Given the description of an element on the screen output the (x, y) to click on. 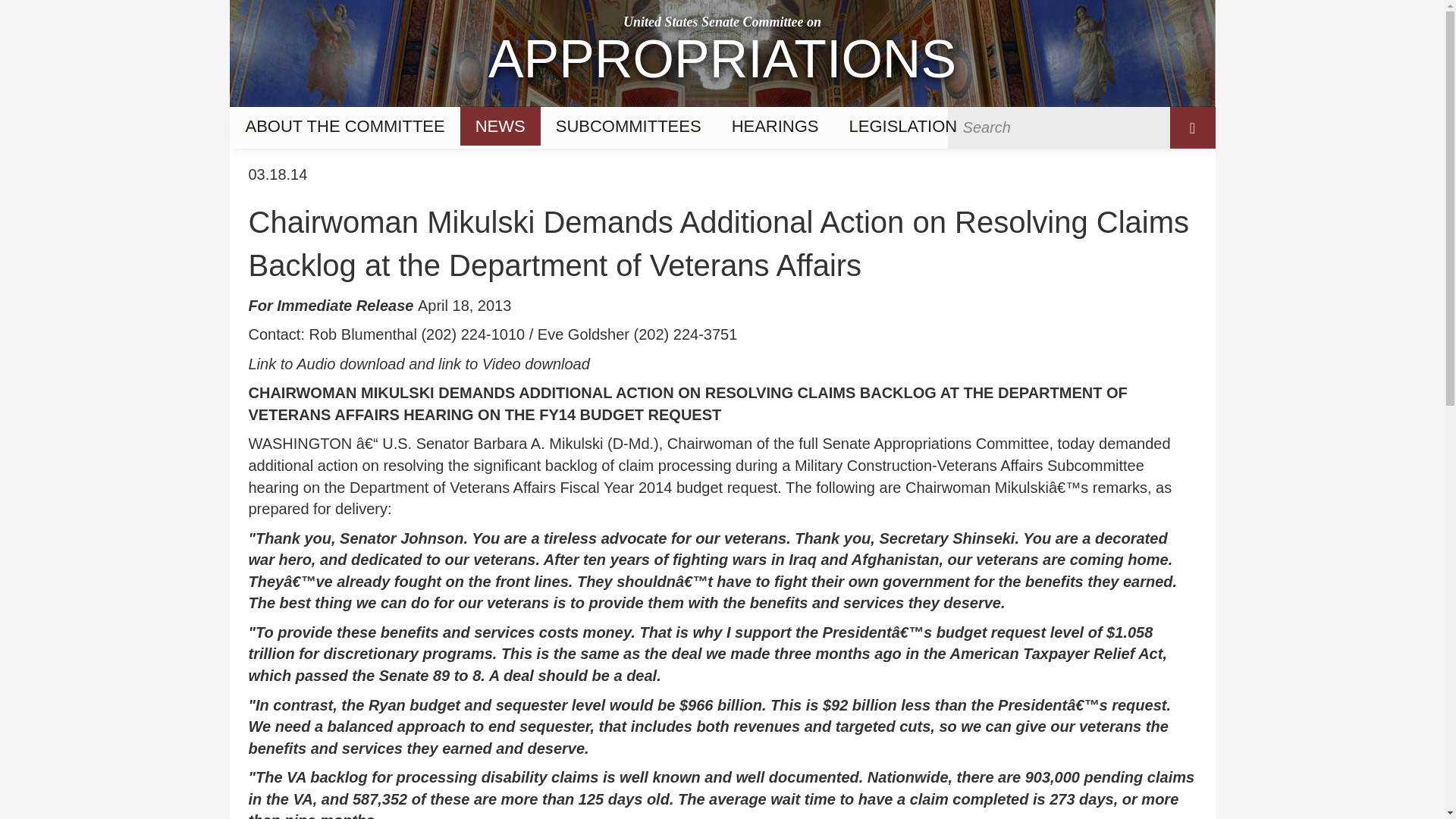
ABOUT THE COMMITTEE (721, 53)
NEWS (345, 126)
